Given the description of an element on the screen output the (x, y) to click on. 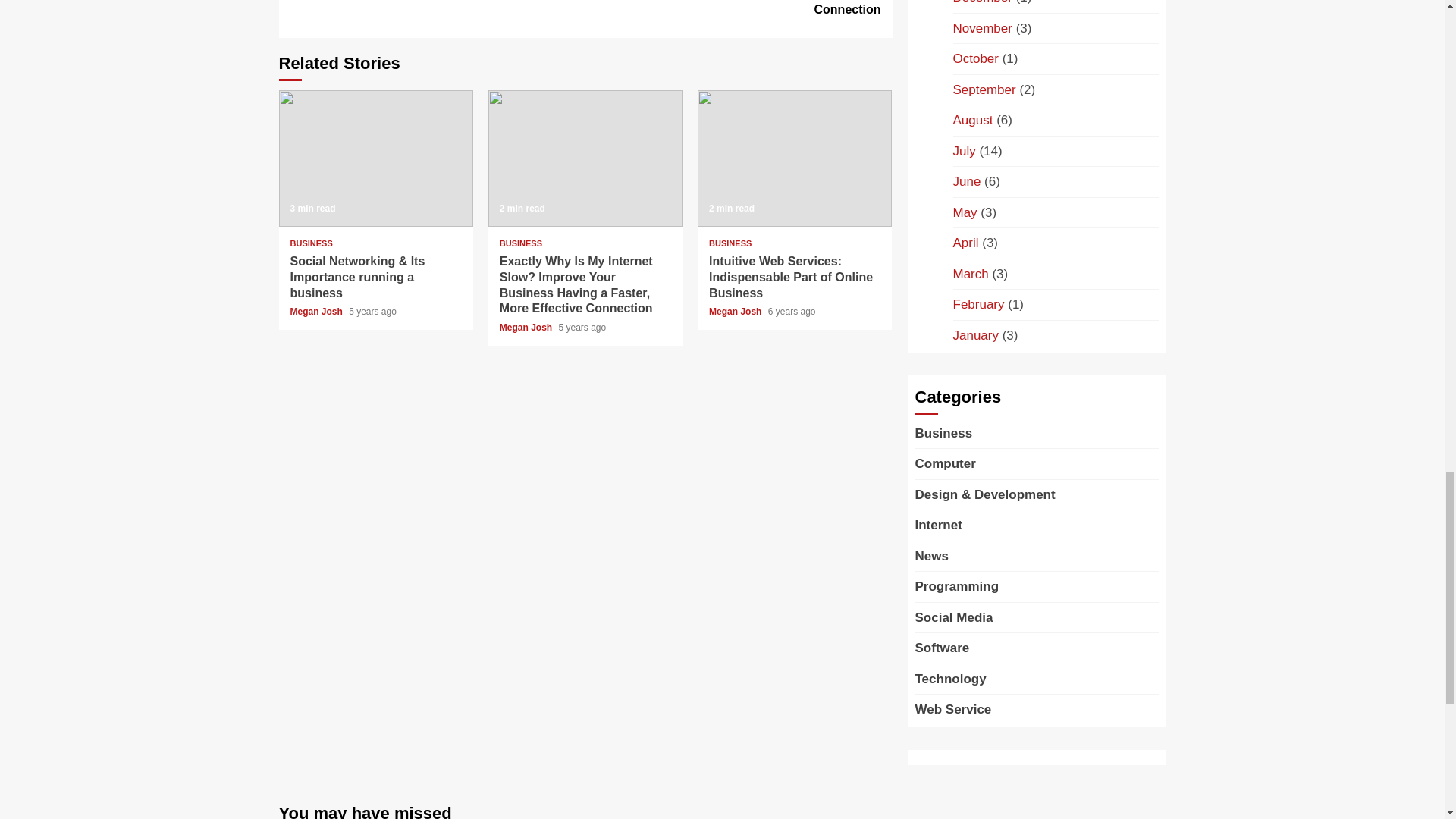
Megan Josh (736, 311)
BUSINESS (310, 243)
BUSINESS (520, 243)
BUSINESS (730, 243)
